Given the description of an element on the screen output the (x, y) to click on. 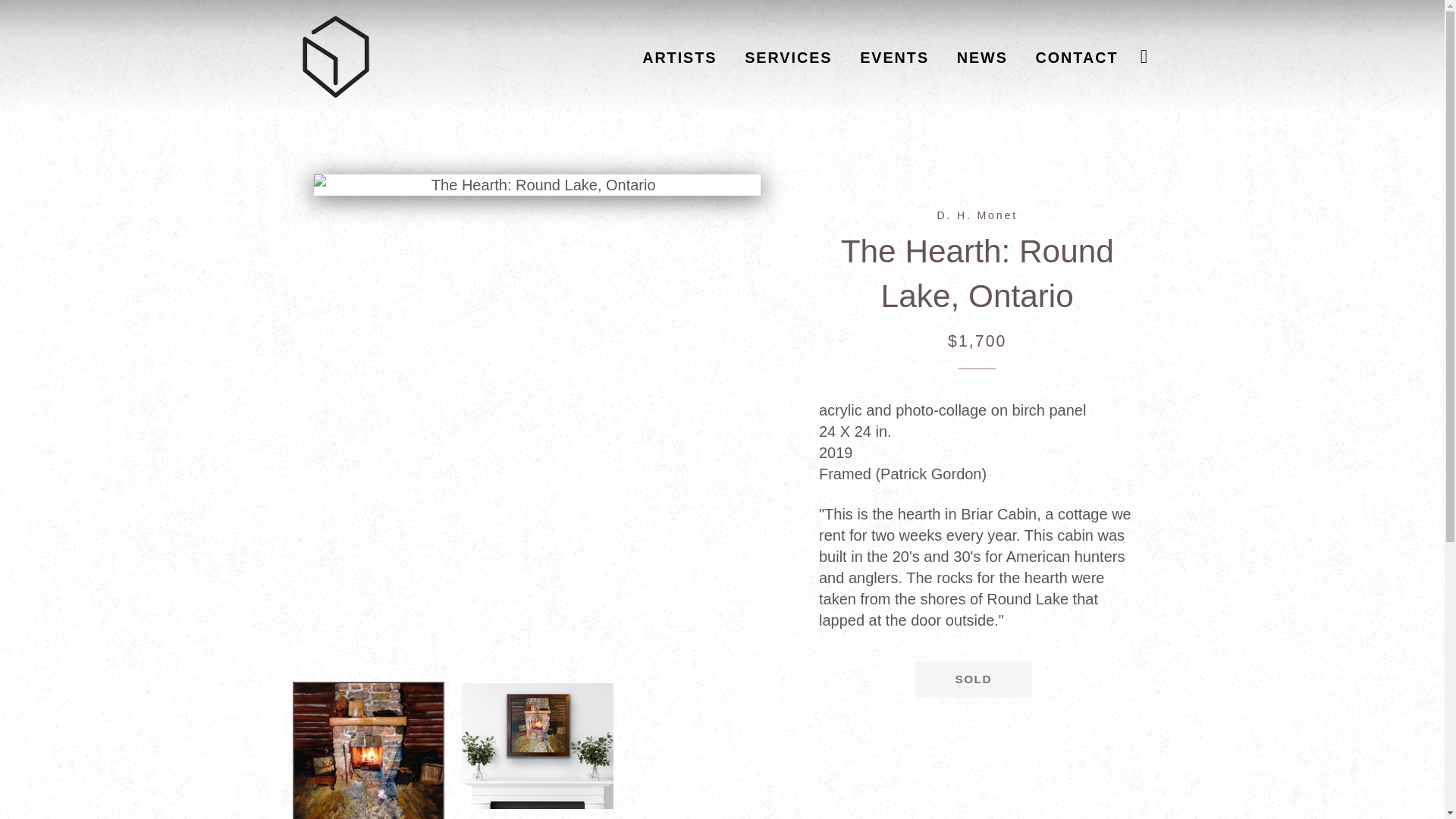
NEWS (981, 58)
CONTACT (1077, 58)
SERVICES (788, 58)
ARTISTS (679, 58)
EVENTS (894, 58)
SOLD (973, 678)
